Given the description of an element on the screen output the (x, y) to click on. 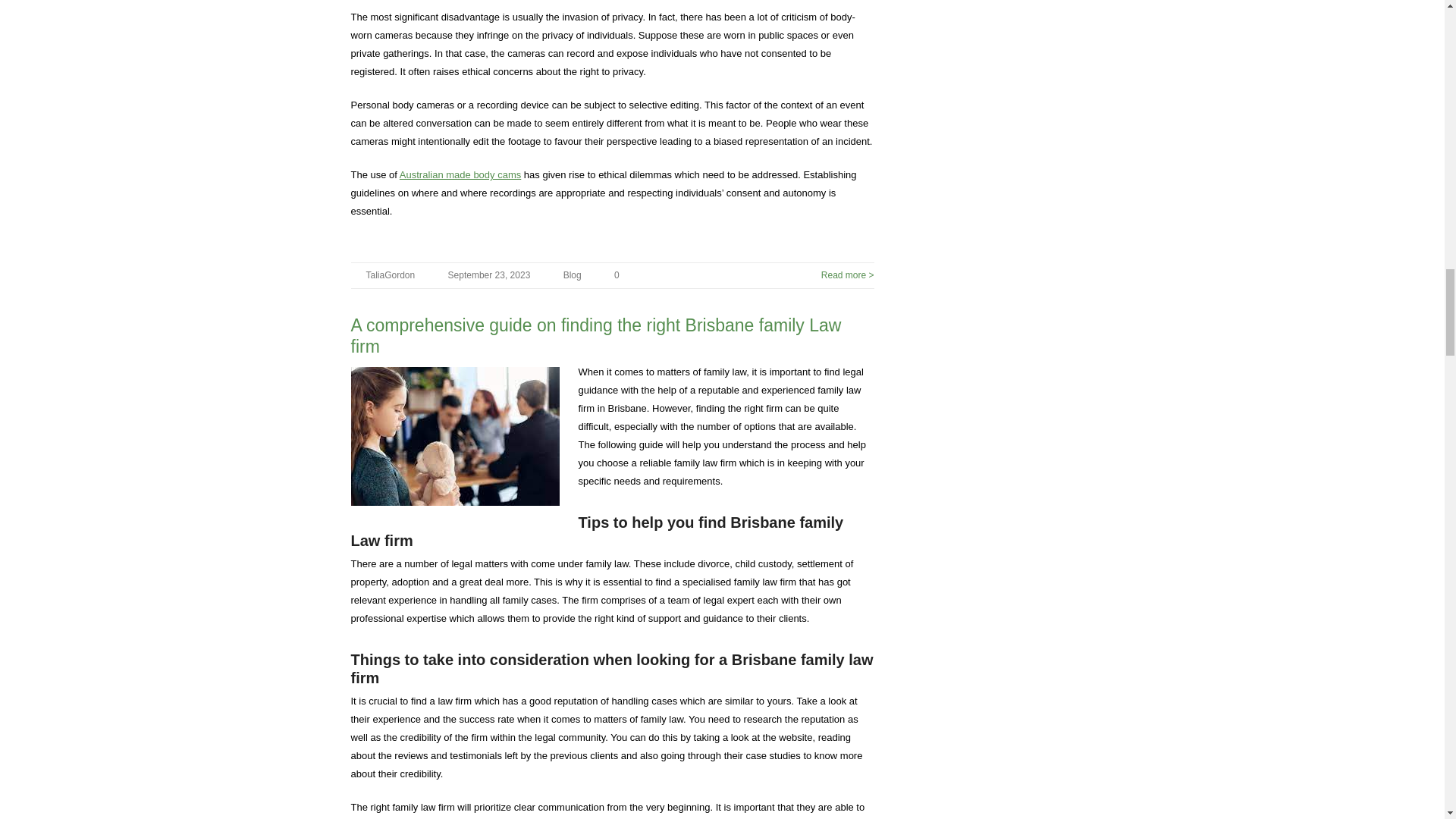
September 23, 2023 (489, 275)
Australian made body cams (459, 174)
Posts by TaliaGordon (389, 275)
Blog (571, 275)
TaliaGordon (389, 275)
